Given the description of an element on the screen output the (x, y) to click on. 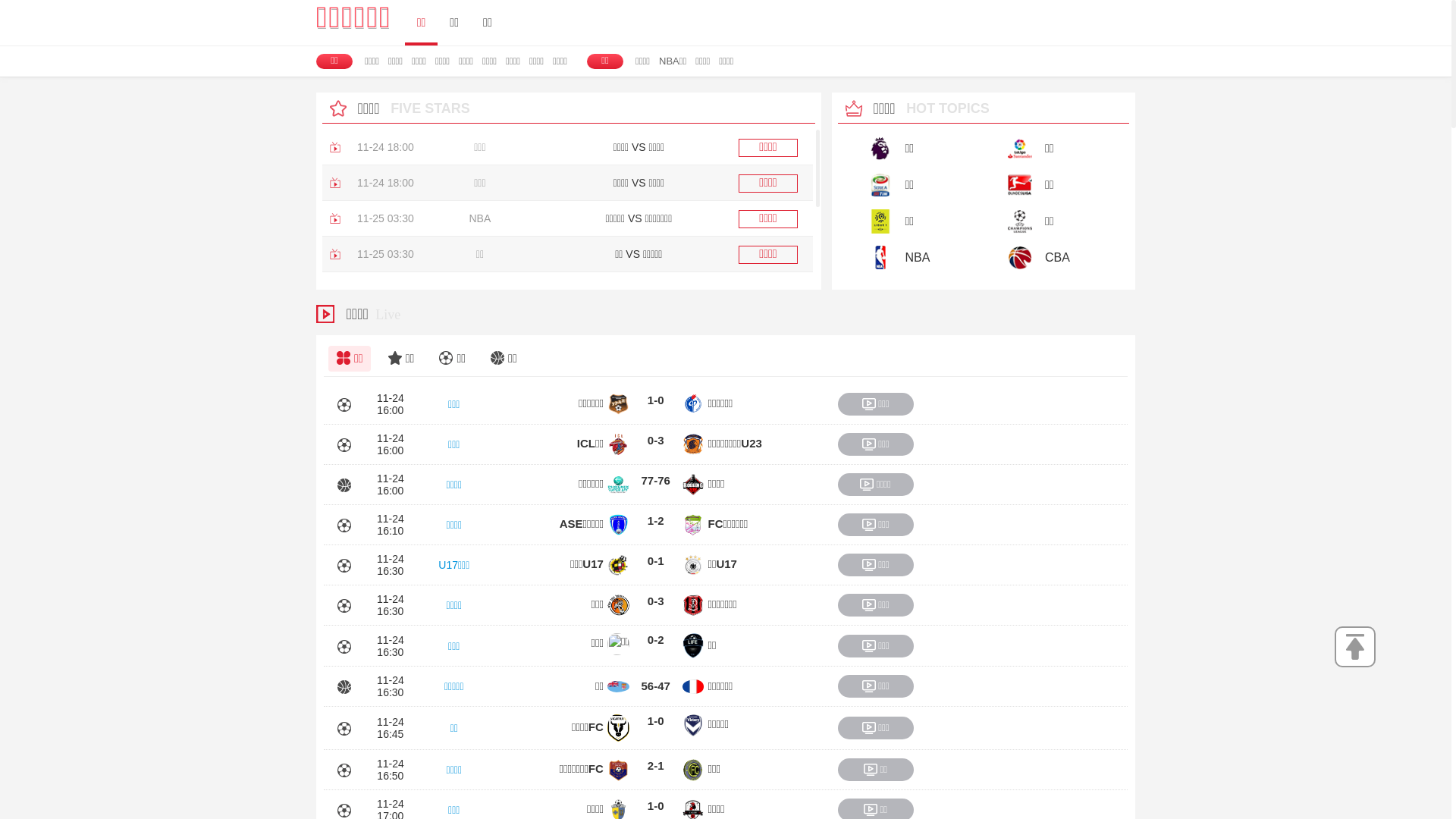
NBA Element type: text (905, 256)
CBA Element type: text (1045, 256)
